Given the description of an element on the screen output the (x, y) to click on. 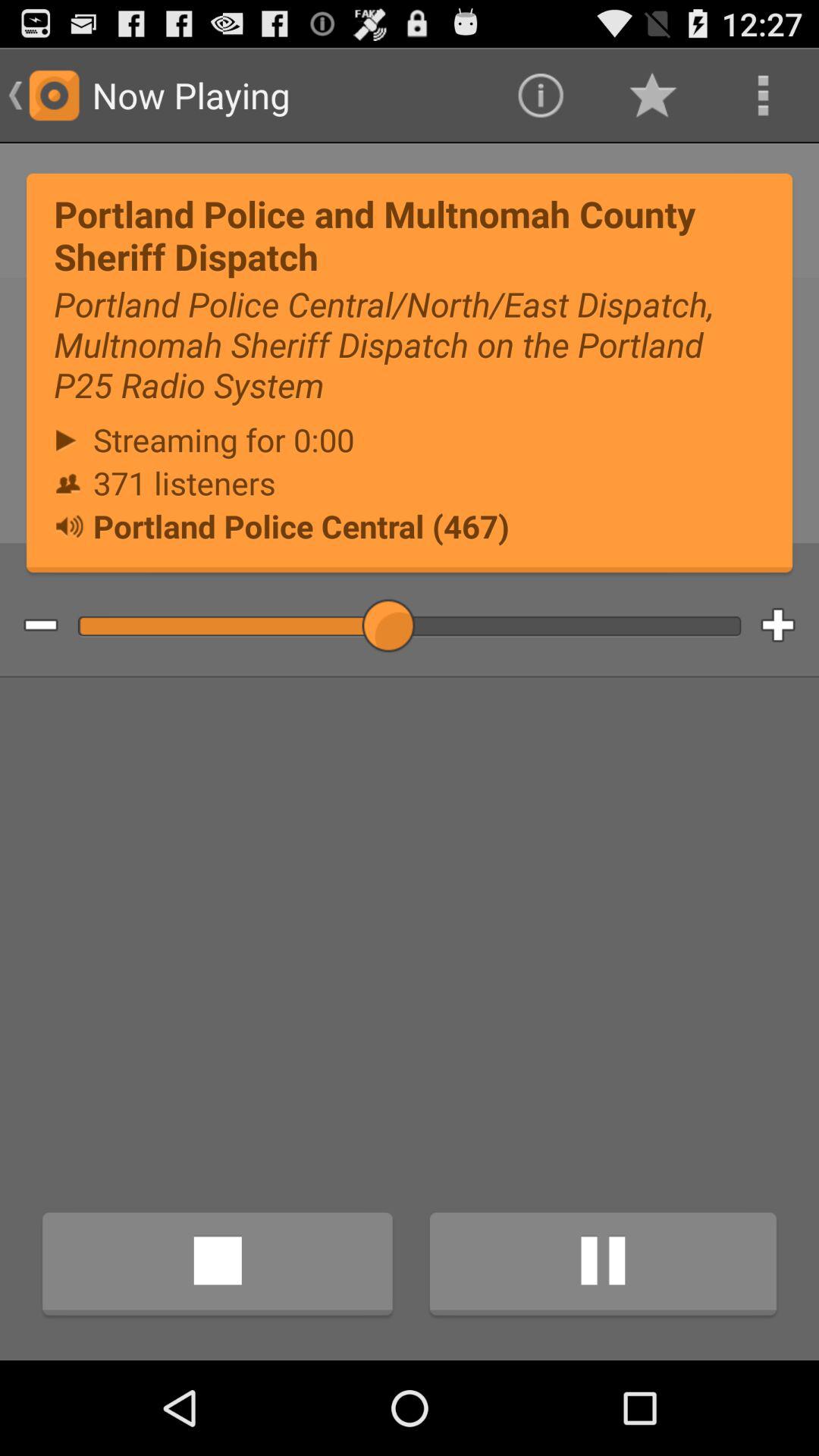
tap the app above the portland police and icon (540, 95)
